Given the description of an element on the screen output the (x, y) to click on. 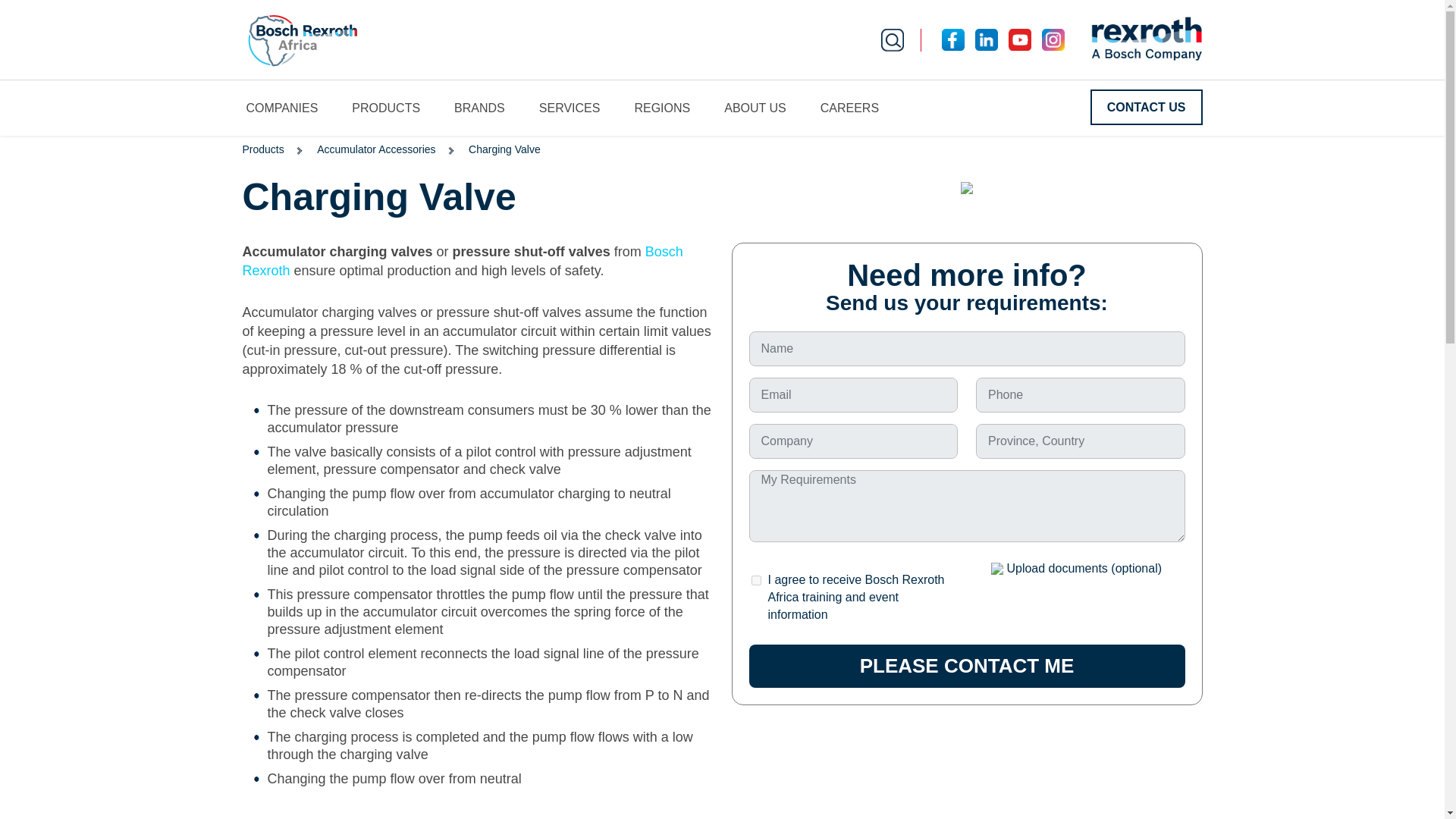
COMPANIES (296, 107)
PRODUCTS (398, 107)
PLEASE CONTACT ME (967, 665)
